Given the description of an element on the screen output the (x, y) to click on. 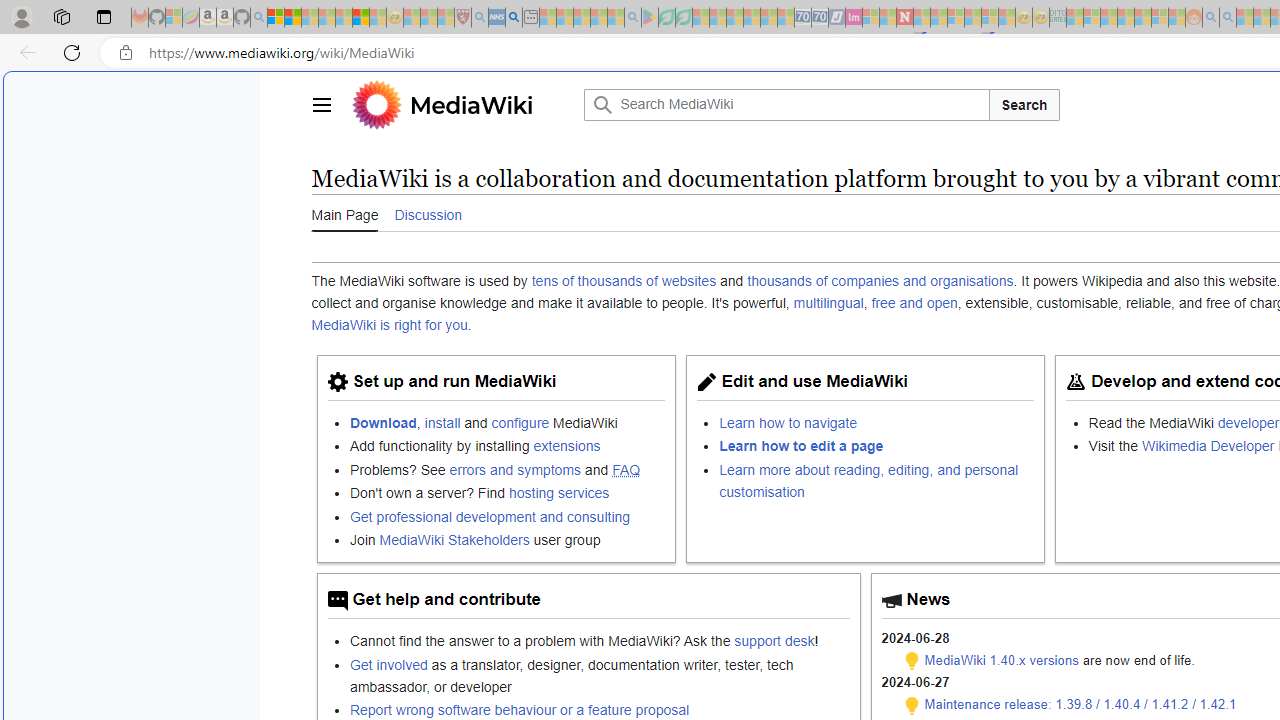
multilingual (828, 303)
tens of thousands of websites (623, 281)
errors and symptoms (515, 469)
Join MediaWiki Stakeholders user group (507, 538)
Learn how to edit a page (801, 446)
Get professional development and consulting (507, 515)
thousands of companies and organisations (880, 281)
